Given the description of an element on the screen output the (x, y) to click on. 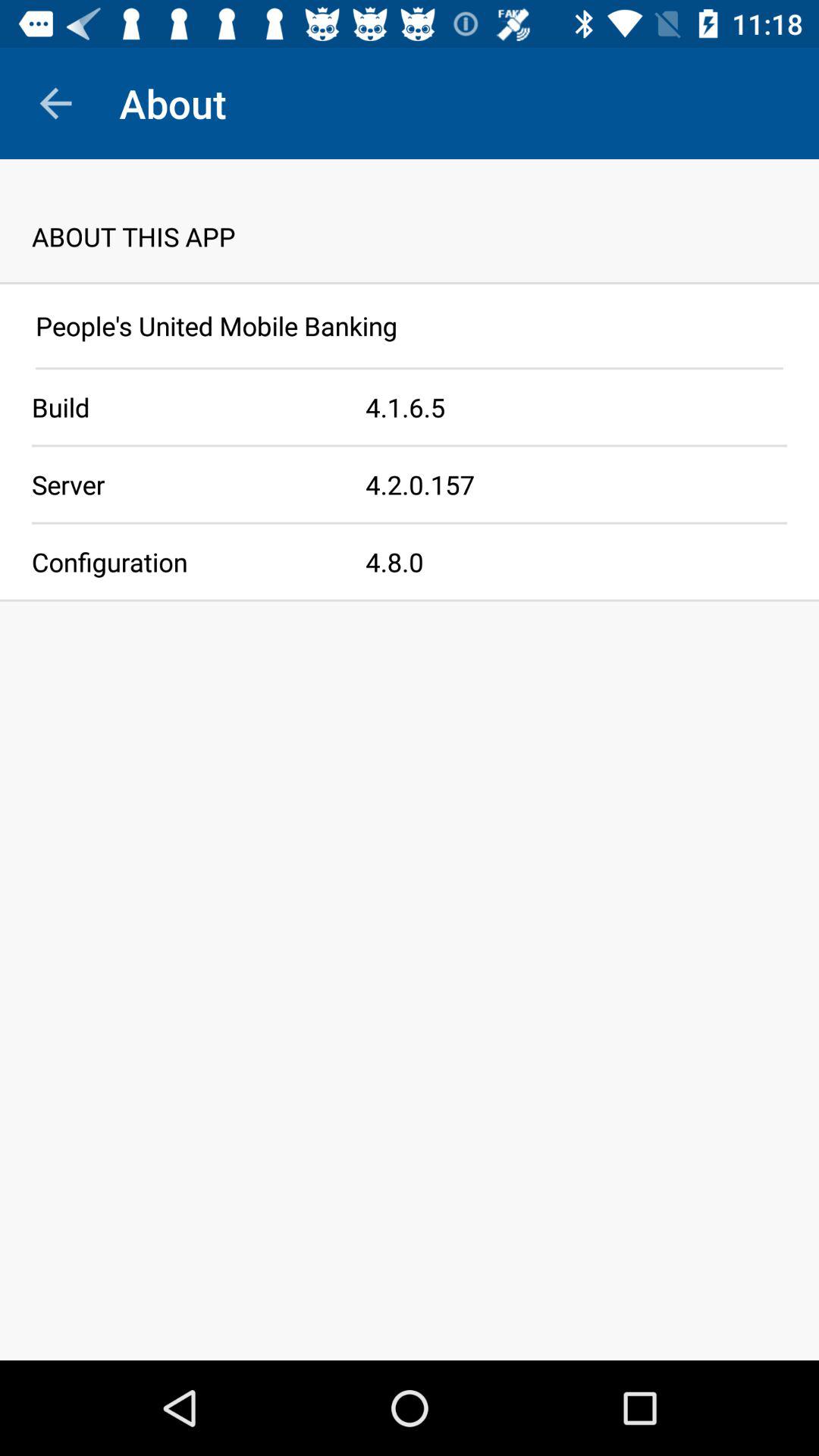
click app above the build (409, 368)
